Given the description of an element on the screen output the (x, y) to click on. 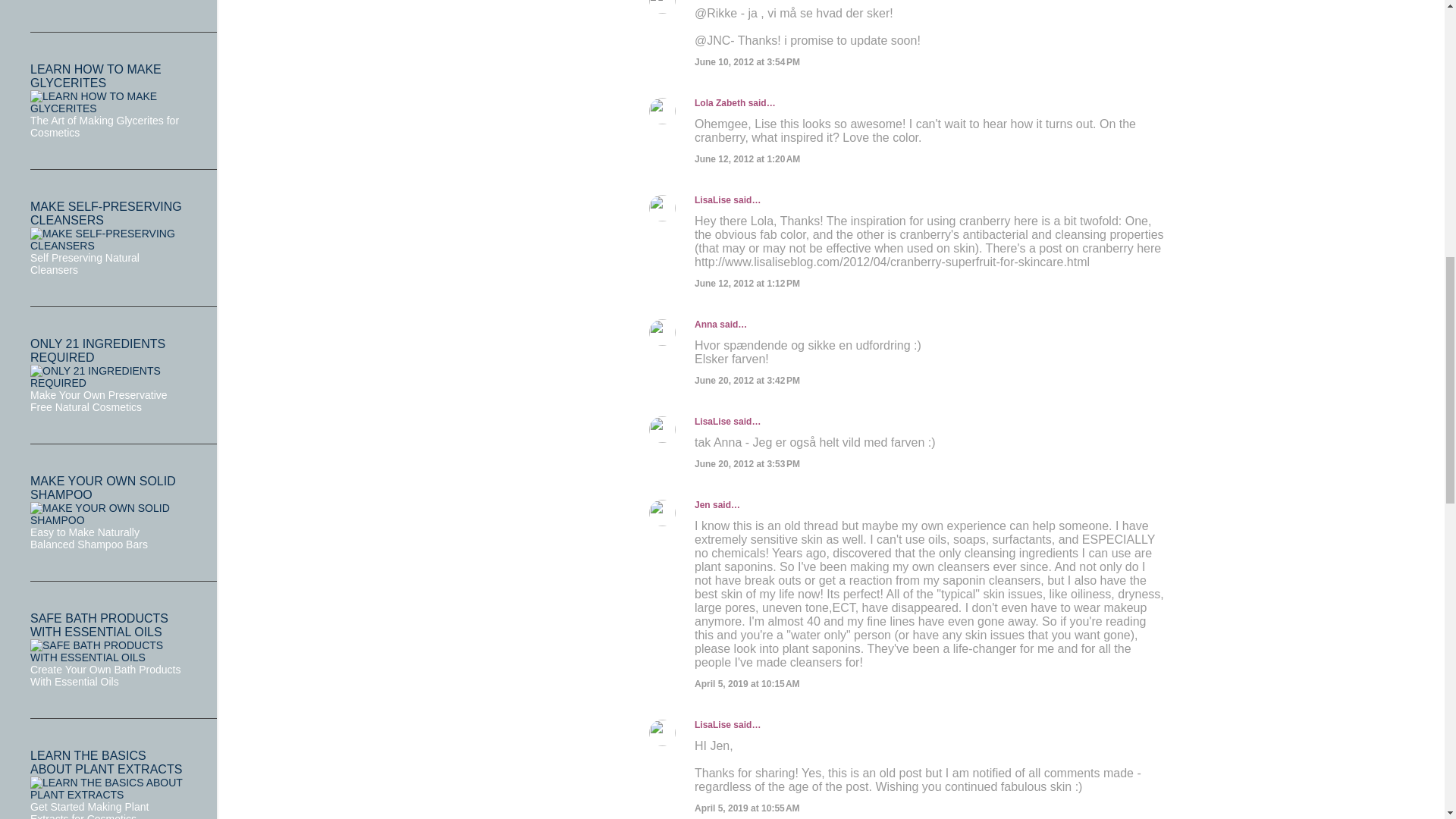
Lola Zabeth (719, 102)
